Given the description of an element on the screen output the (x, y) to click on. 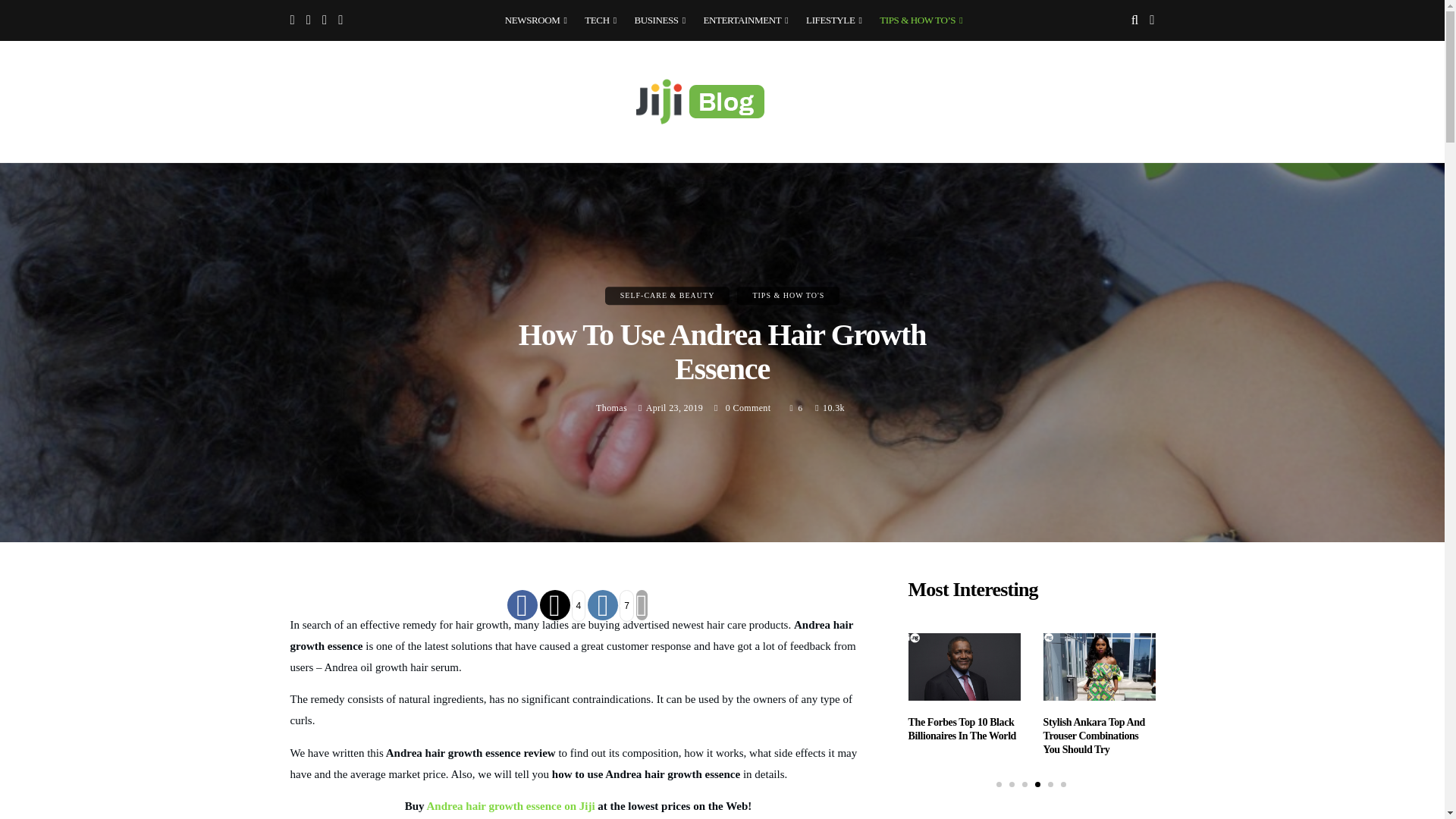
Like (796, 407)
Share Facebook (521, 604)
Share LinkedIn (610, 605)
Share Twitter (563, 605)
ENTERTAINMENT (745, 20)
BUSINESS (658, 20)
LIFESTYLE (833, 20)
NEWSROOM (536, 20)
Posts by Thomas (611, 407)
